Given the description of an element on the screen output the (x, y) to click on. 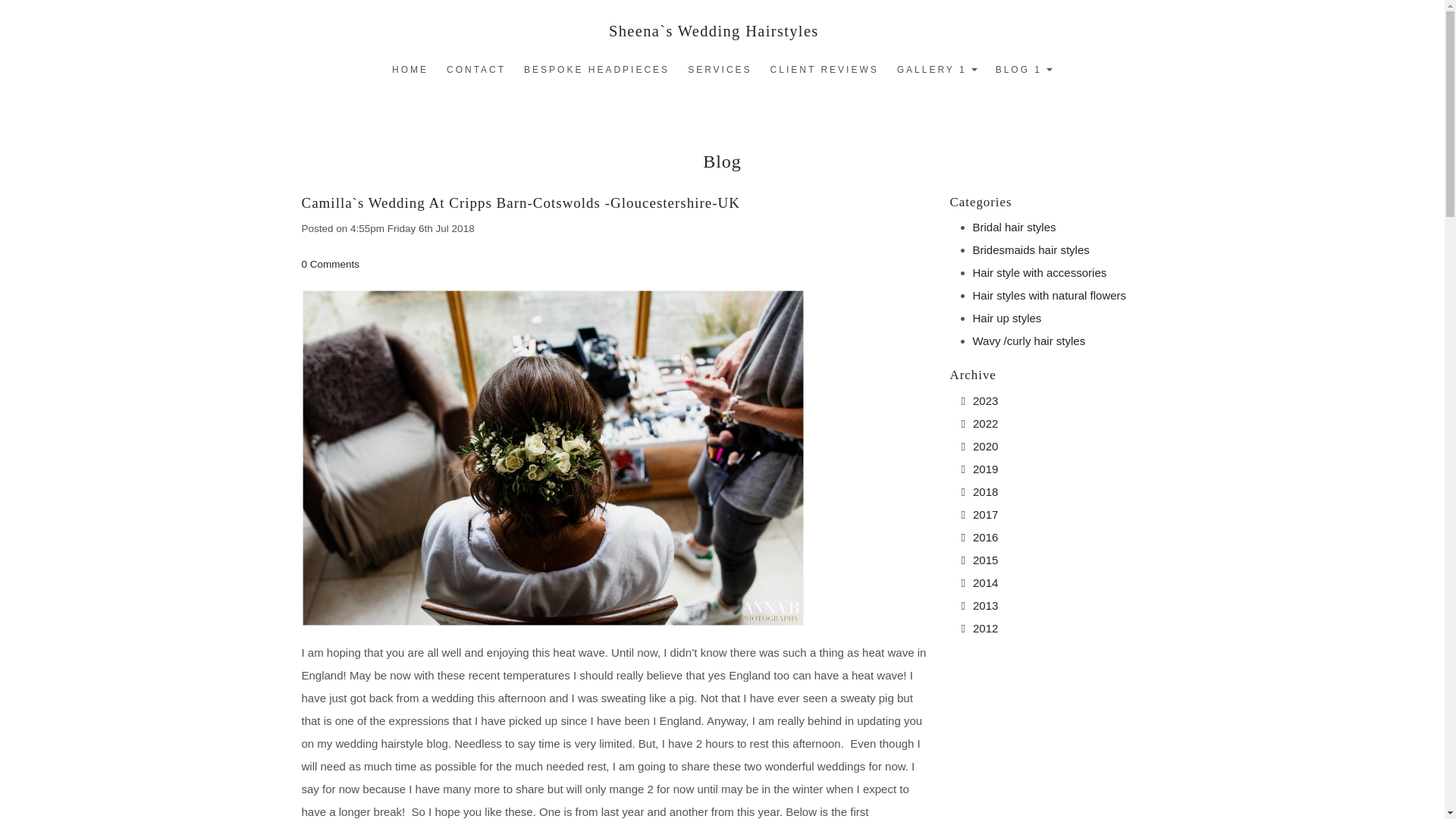
BLOG 1 (1024, 69)
HOME (410, 69)
2023 (984, 400)
GALLERY 1 (937, 69)
BESPOKE HEADPIECES (596, 69)
CLIENT REVIEWS (824, 69)
Hair up styles (1006, 318)
Hair styles with natural flowers (1048, 295)
Bridesmaids hair styles (1030, 249)
CONTACT (476, 69)
0 Comments (330, 264)
Hair style with accessories (1039, 272)
Bridal hair styles (1013, 226)
SERVICES (719, 69)
